Given the description of an element on the screen output the (x, y) to click on. 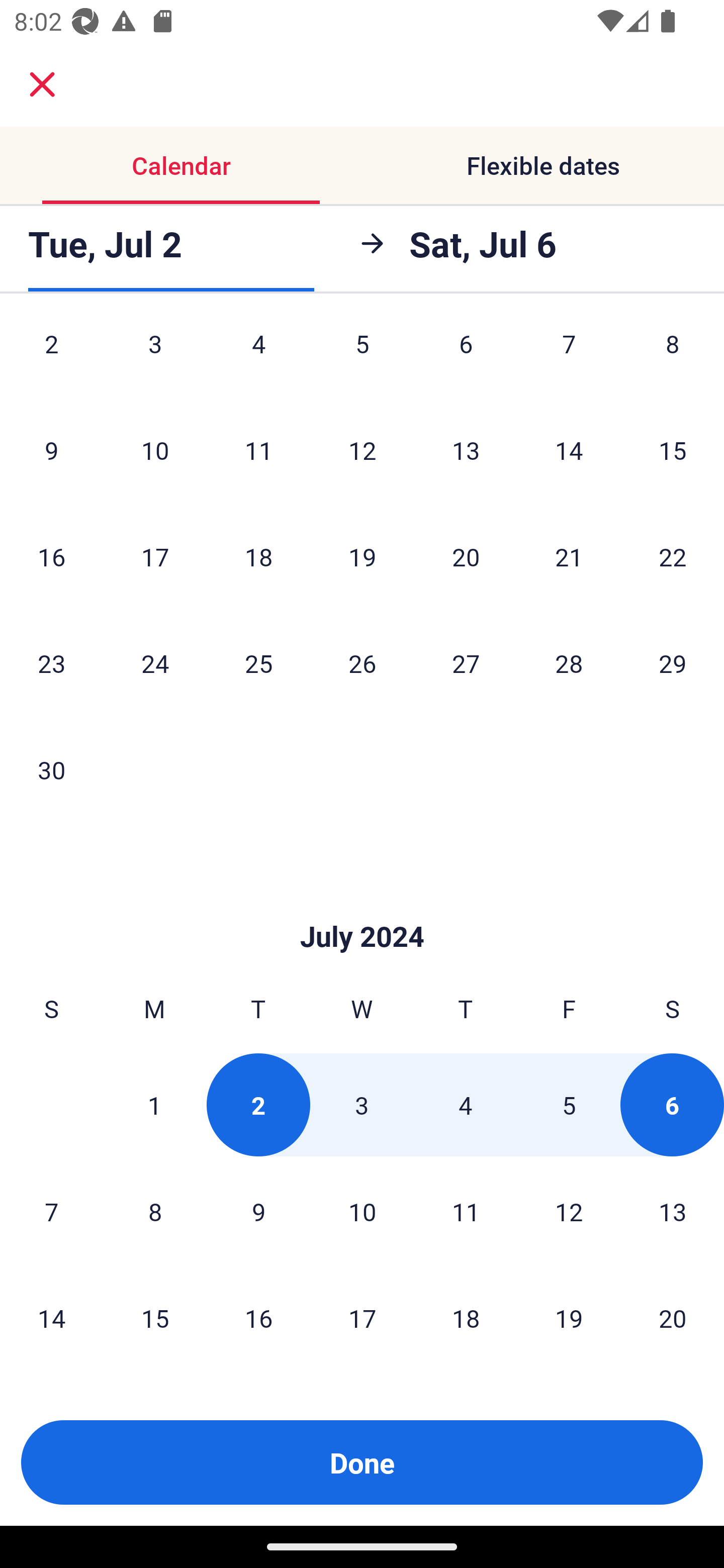
close. (42, 84)
Flexible dates (542, 164)
2 Sunday, June 2, 2024 (51, 358)
3 Monday, June 3, 2024 (155, 358)
4 Tuesday, June 4, 2024 (258, 358)
5 Wednesday, June 5, 2024 (362, 358)
6 Thursday, June 6, 2024 (465, 358)
7 Friday, June 7, 2024 (569, 358)
8 Saturday, June 8, 2024 (672, 358)
9 Sunday, June 9, 2024 (51, 449)
10 Monday, June 10, 2024 (155, 449)
11 Tuesday, June 11, 2024 (258, 449)
12 Wednesday, June 12, 2024 (362, 449)
13 Thursday, June 13, 2024 (465, 449)
14 Friday, June 14, 2024 (569, 449)
15 Saturday, June 15, 2024 (672, 449)
16 Sunday, June 16, 2024 (51, 556)
17 Monday, June 17, 2024 (155, 556)
18 Tuesday, June 18, 2024 (258, 556)
19 Wednesday, June 19, 2024 (362, 556)
20 Thursday, June 20, 2024 (465, 556)
21 Friday, June 21, 2024 (569, 556)
22 Saturday, June 22, 2024 (672, 556)
23 Sunday, June 23, 2024 (51, 663)
24 Monday, June 24, 2024 (155, 663)
25 Tuesday, June 25, 2024 (258, 663)
26 Wednesday, June 26, 2024 (362, 663)
27 Thursday, June 27, 2024 (465, 663)
28 Friday, June 28, 2024 (569, 663)
29 Saturday, June 29, 2024 (672, 663)
30 Sunday, June 30, 2024 (51, 769)
Skip to Done (362, 905)
1 Monday, July 1, 2024 (154, 1105)
7 Sunday, July 7, 2024 (51, 1211)
8 Monday, July 8, 2024 (155, 1211)
9 Tuesday, July 9, 2024 (258, 1211)
10 Wednesday, July 10, 2024 (362, 1211)
11 Thursday, July 11, 2024 (465, 1211)
12 Friday, July 12, 2024 (569, 1211)
13 Saturday, July 13, 2024 (672, 1211)
14 Sunday, July 14, 2024 (51, 1317)
15 Monday, July 15, 2024 (155, 1317)
16 Tuesday, July 16, 2024 (258, 1317)
17 Wednesday, July 17, 2024 (362, 1317)
18 Thursday, July 18, 2024 (465, 1317)
19 Friday, July 19, 2024 (569, 1317)
20 Saturday, July 20, 2024 (672, 1317)
Done (361, 1462)
